Given the description of an element on the screen output the (x, y) to click on. 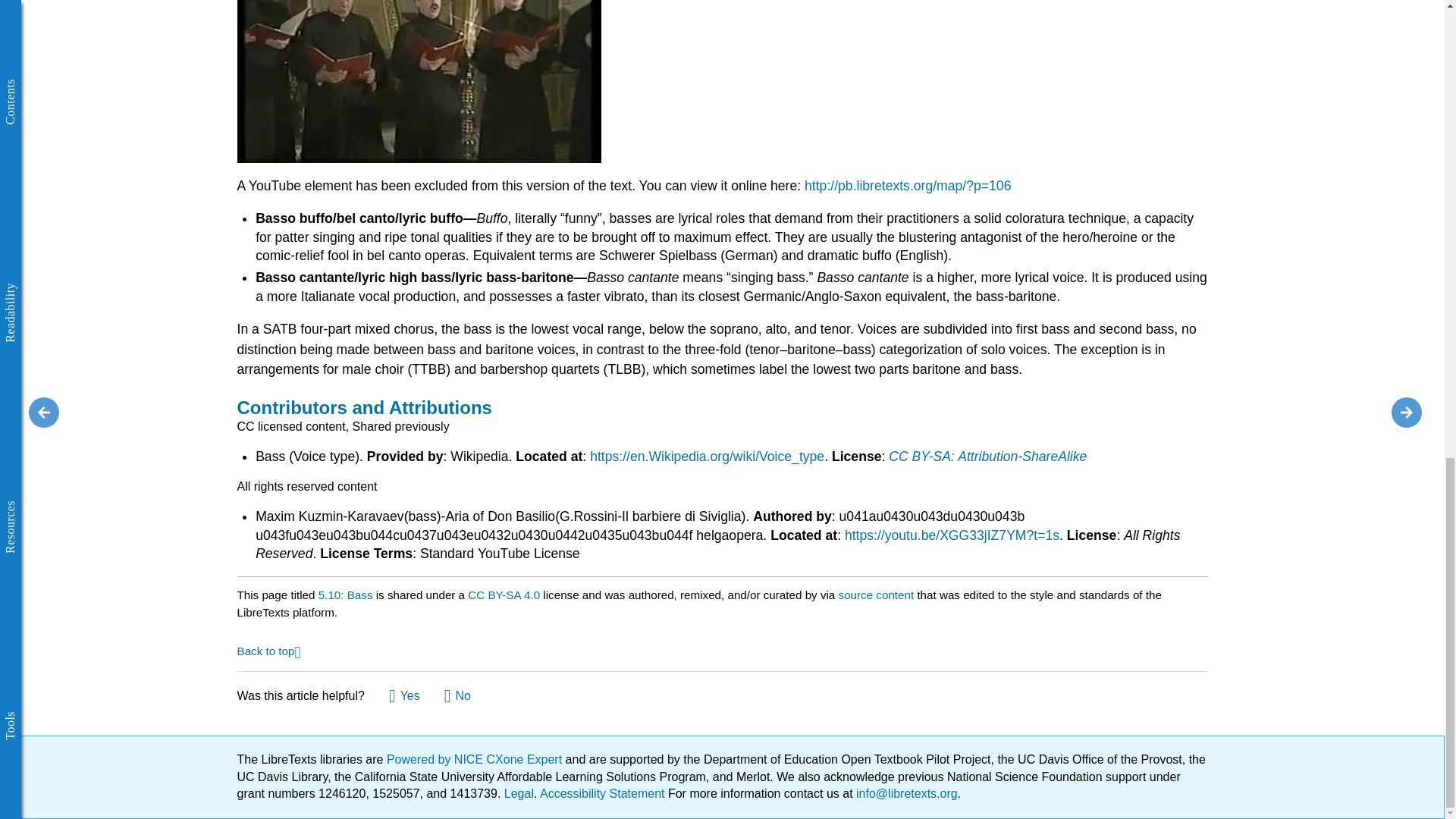
Russian Choir with Mikhail Zlatopolsky, Basso Profondo (417, 81)
